Given the description of an element on the screen output the (x, y) to click on. 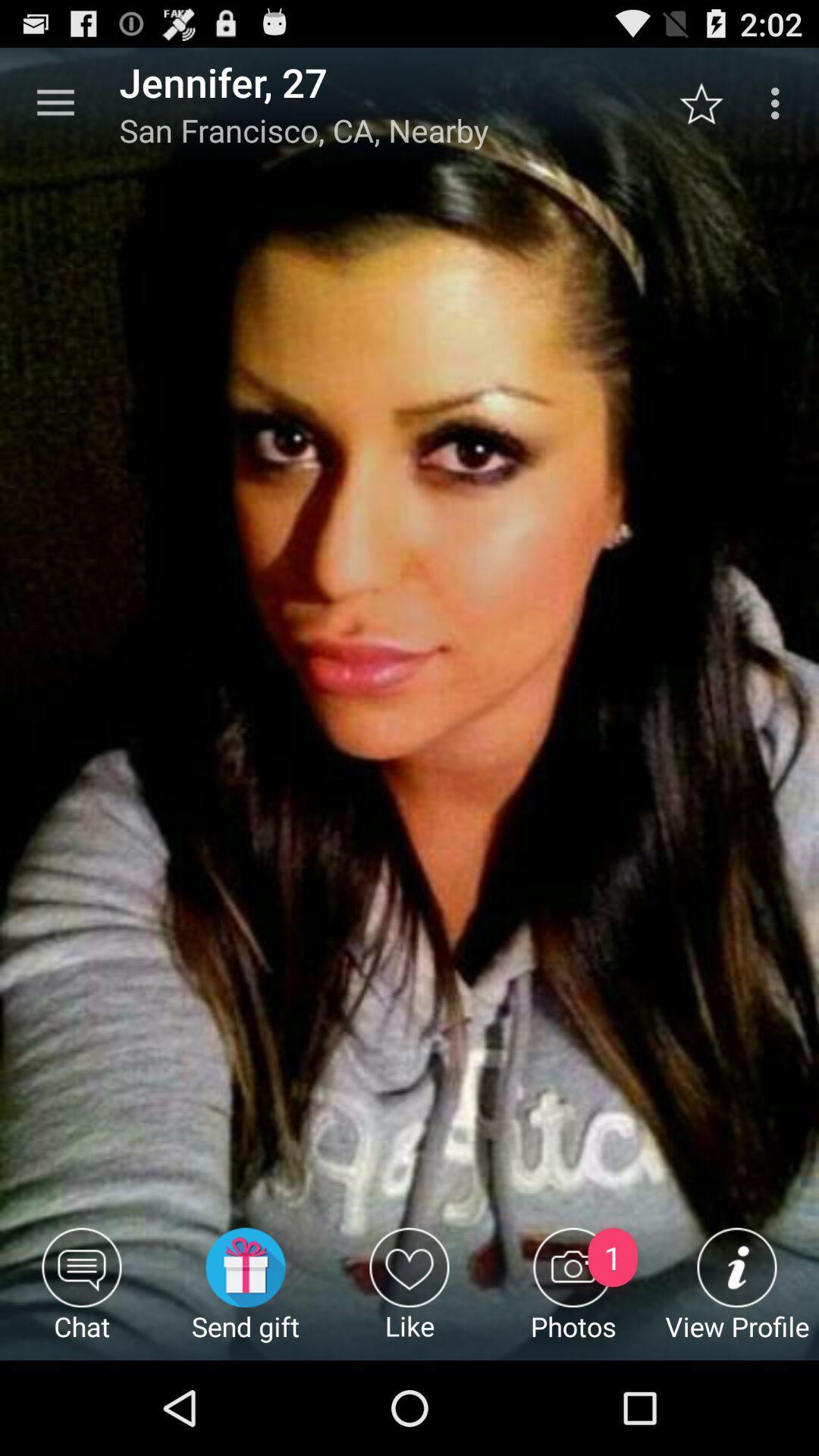
tap item next to the send gift item (409, 1293)
